Given the description of an element on the screen output the (x, y) to click on. 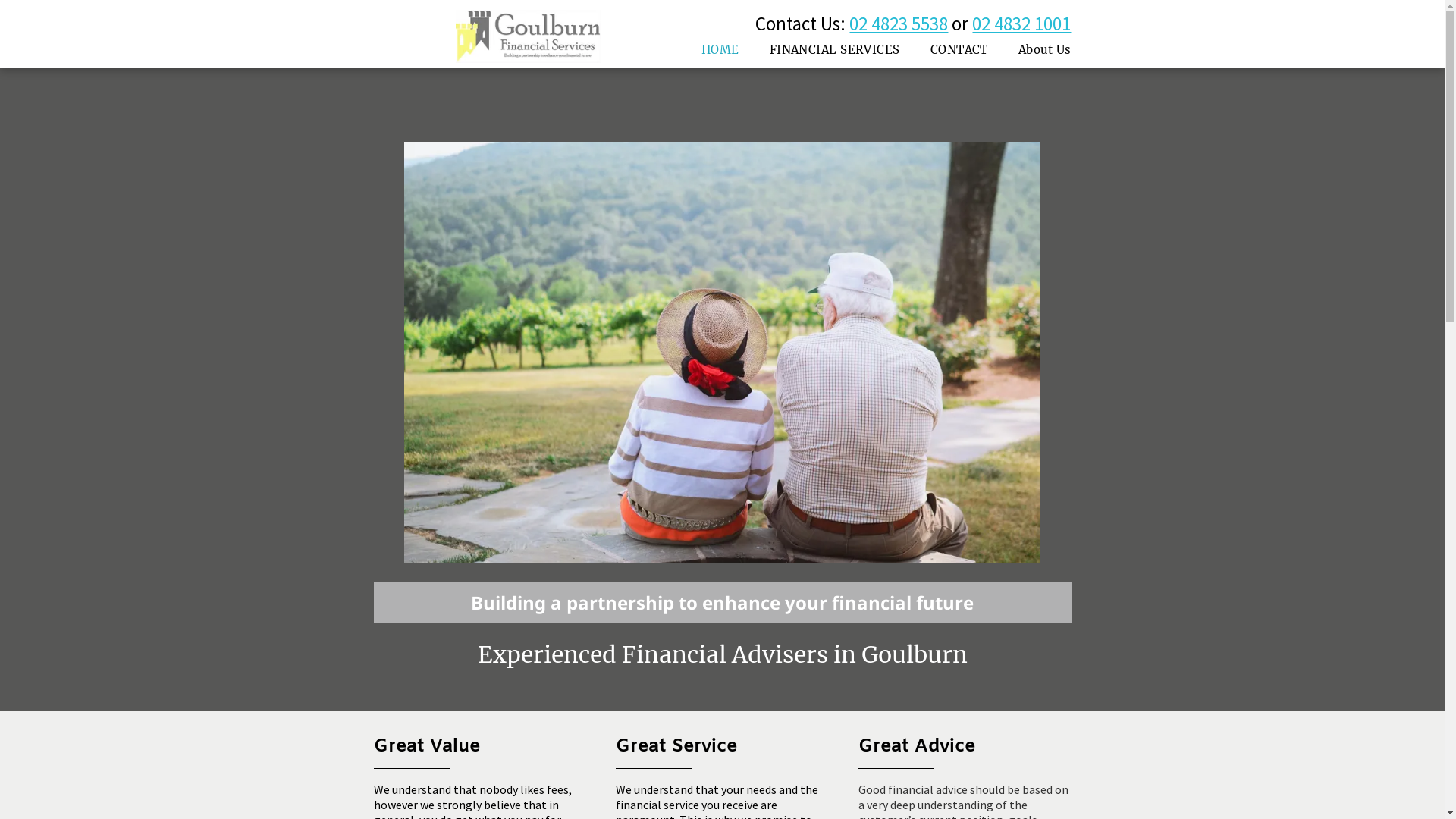
About Us Element type: text (1044, 49)
02 4832 1001 Element type: text (1021, 23)
FINANCIAL SERVICES Element type: text (834, 49)
02 4823 5538 Element type: text (898, 23)
CONTACT Element type: text (959, 49)
HOME Element type: text (720, 49)
